Given the description of an element on the screen output the (x, y) to click on. 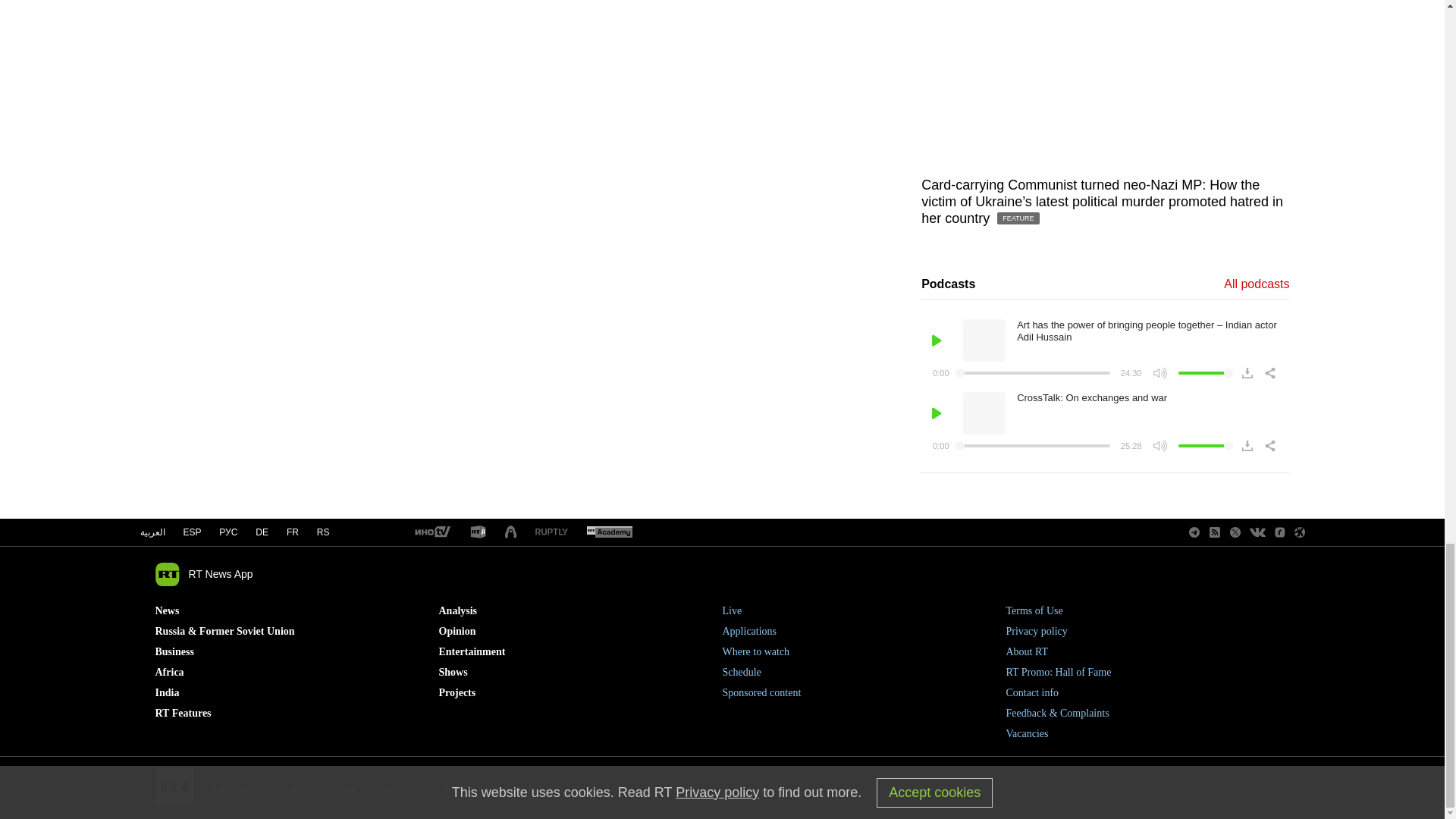
RT  (478, 532)
RT  (551, 532)
RT  (431, 532)
RT  (608, 532)
